Given the description of an element on the screen output the (x, y) to click on. 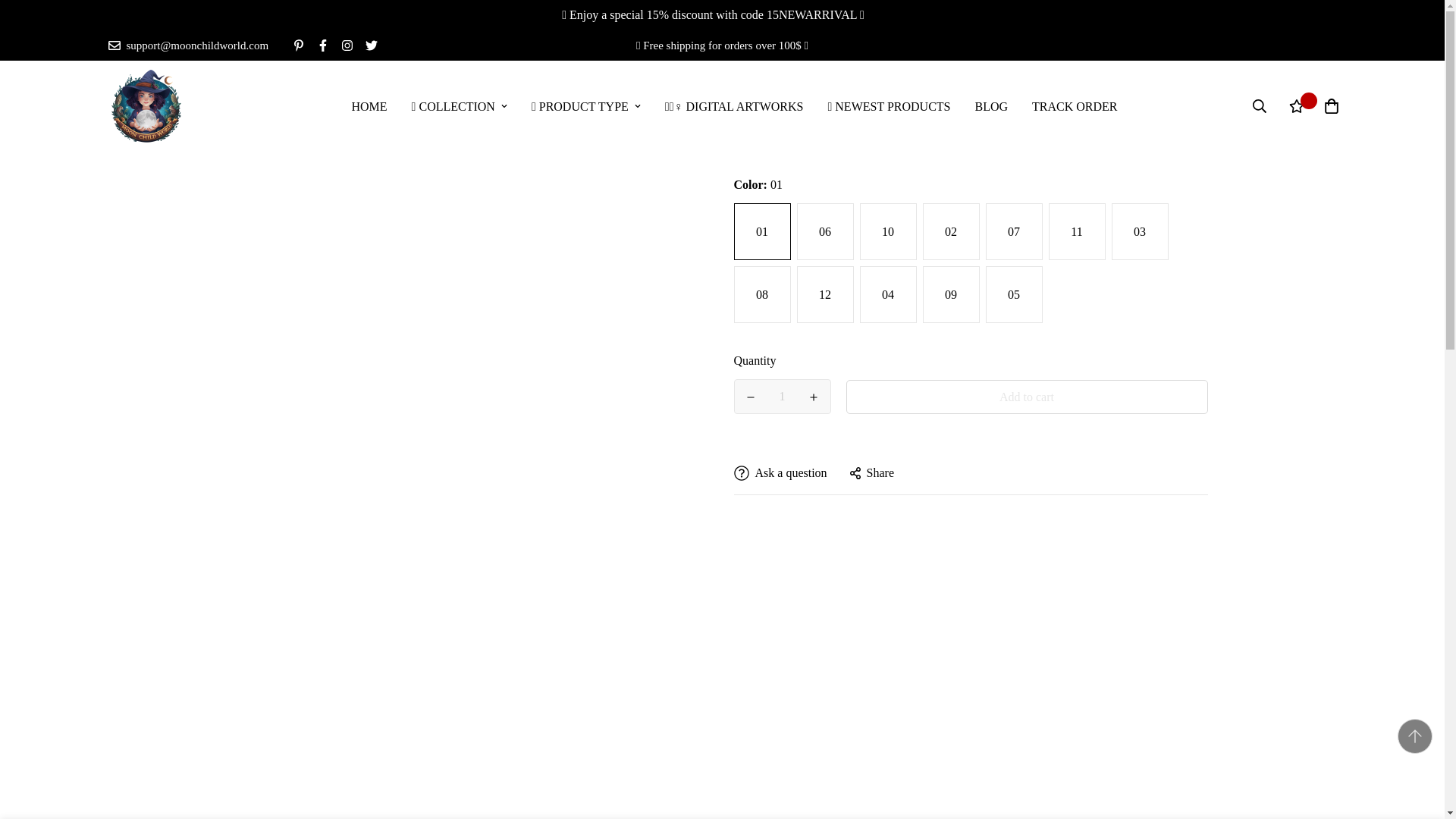
1 (782, 396)
HOME (368, 105)
